Given the description of an element on the screen output the (x, y) to click on. 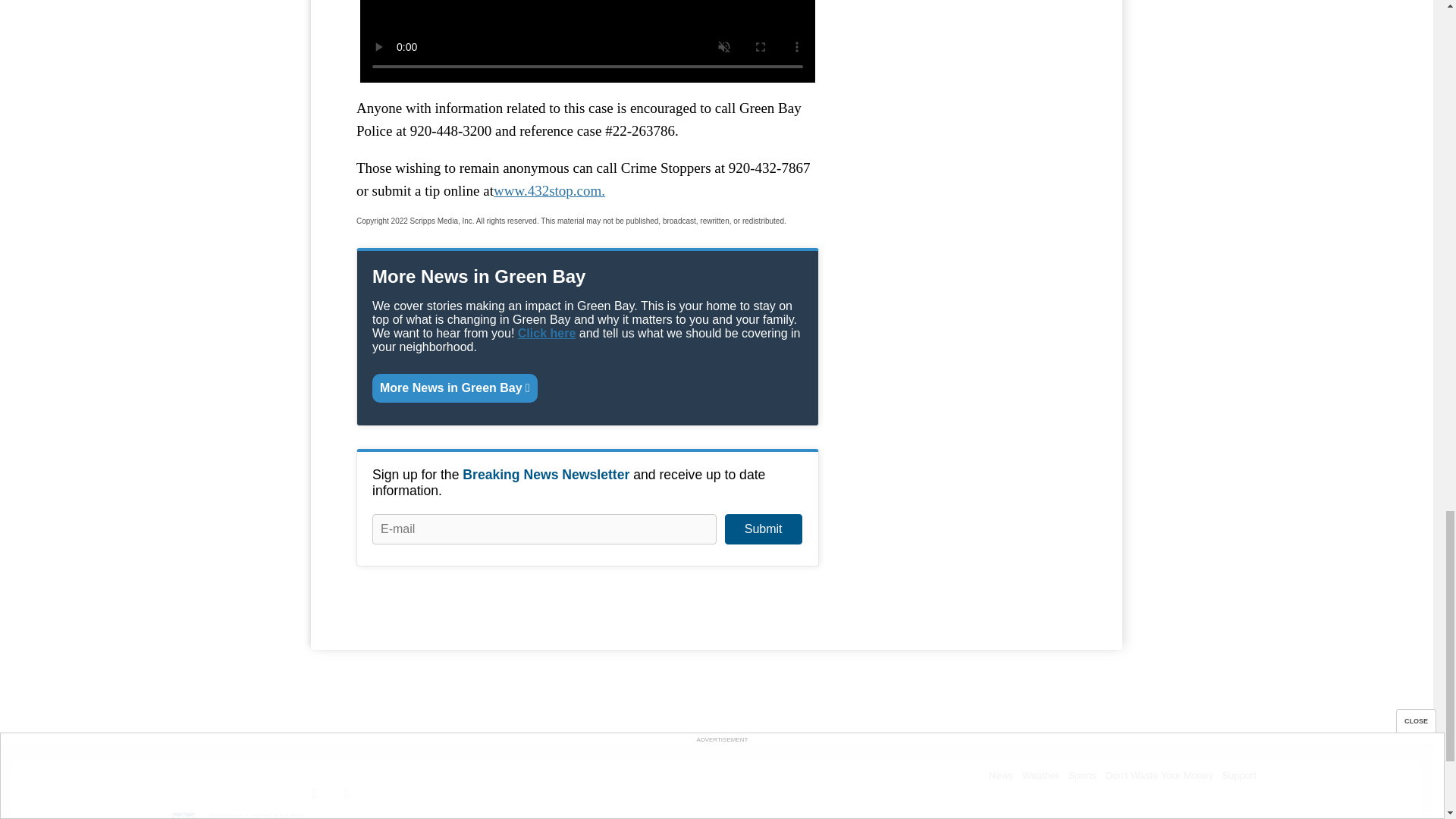
Submit (763, 529)
